Given the description of an element on the screen output the (x, y) to click on. 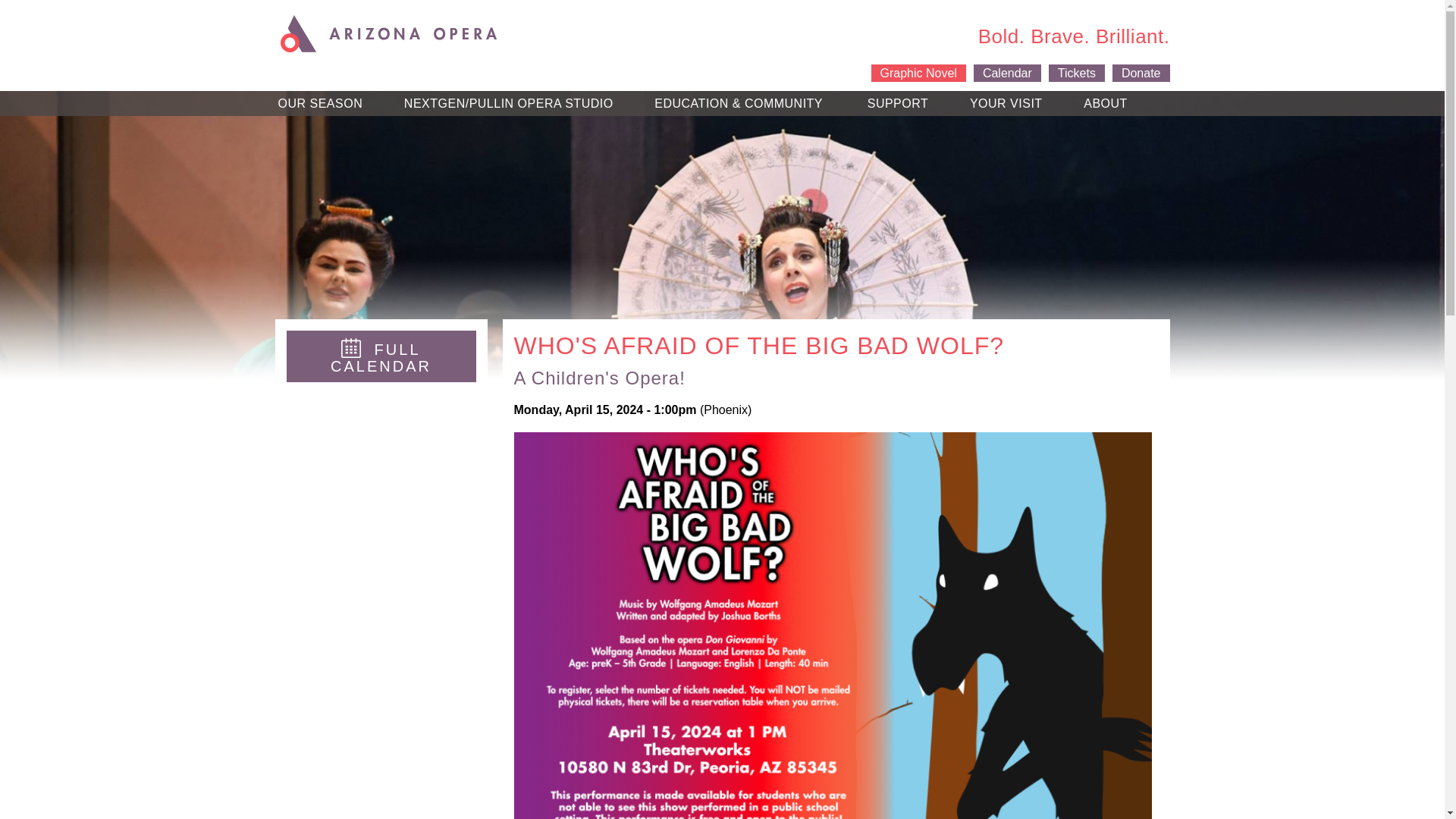
Graphic Novel (918, 72)
Donate (1141, 72)
Skip to main content (685, 20)
YOUR VISIT (1004, 103)
SUPPORT (896, 103)
Tickets (1076, 72)
Calendar (1007, 72)
OUR SEASON (318, 103)
